Given the description of an element on the screen output the (x, y) to click on. 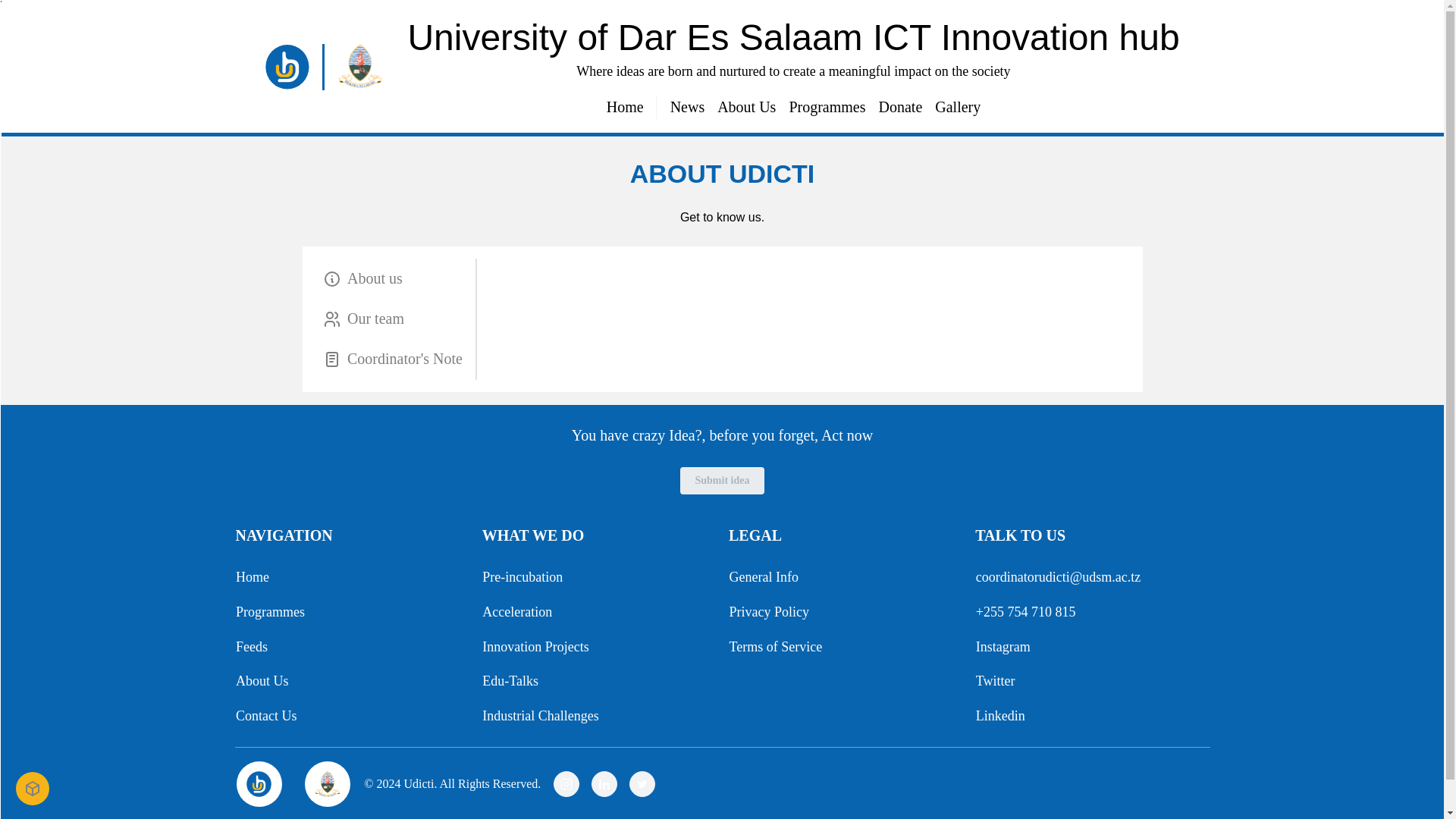
Gallery (957, 107)
Contact Us (265, 716)
Programmes (269, 612)
Linkedin (1000, 716)
General Info (763, 577)
Feeds (250, 647)
Submit idea (721, 480)
Our team (395, 318)
About Us (746, 107)
Home (624, 107)
Privacy Policy (769, 612)
About Us (261, 681)
Instagram (1002, 647)
Twitter (994, 681)
Coordinator's Note (395, 359)
